Given the description of an element on the screen output the (x, y) to click on. 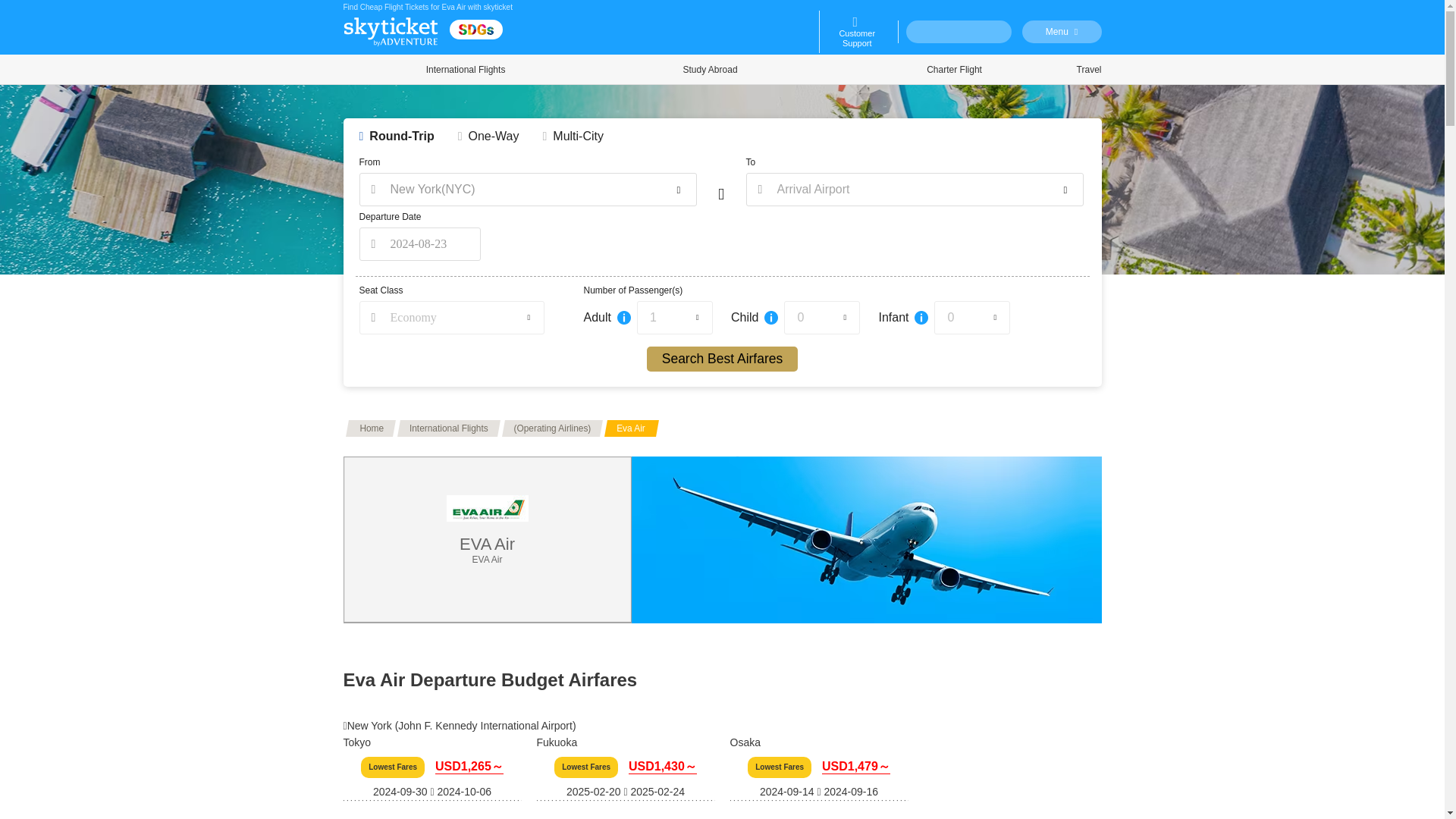
International Flights (465, 69)
Customer Support (856, 31)
Study Abroad (710, 69)
2024-08-23 (419, 244)
Charter Flight (954, 69)
Menu (1062, 31)
